Given the description of an element on the screen output the (x, y) to click on. 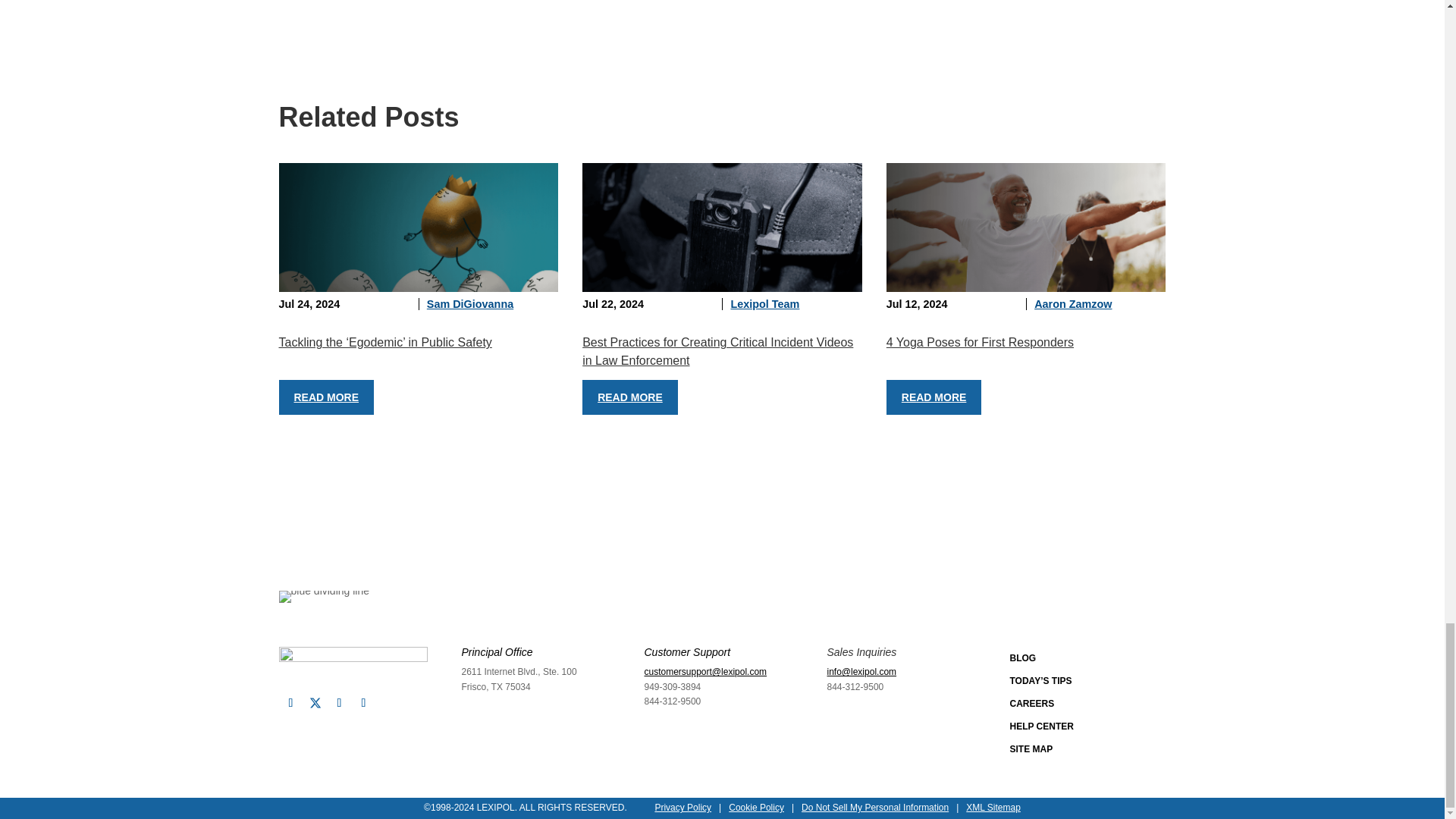
Follow on Youtube (363, 702)
Follow on  (314, 702)
Follow on Facebook (290, 702)
Lexipol-logo-blue (353, 662)
Follow on LinkedIn (339, 702)
footer-top (324, 596)
